Given the description of an element on the screen output the (x, y) to click on. 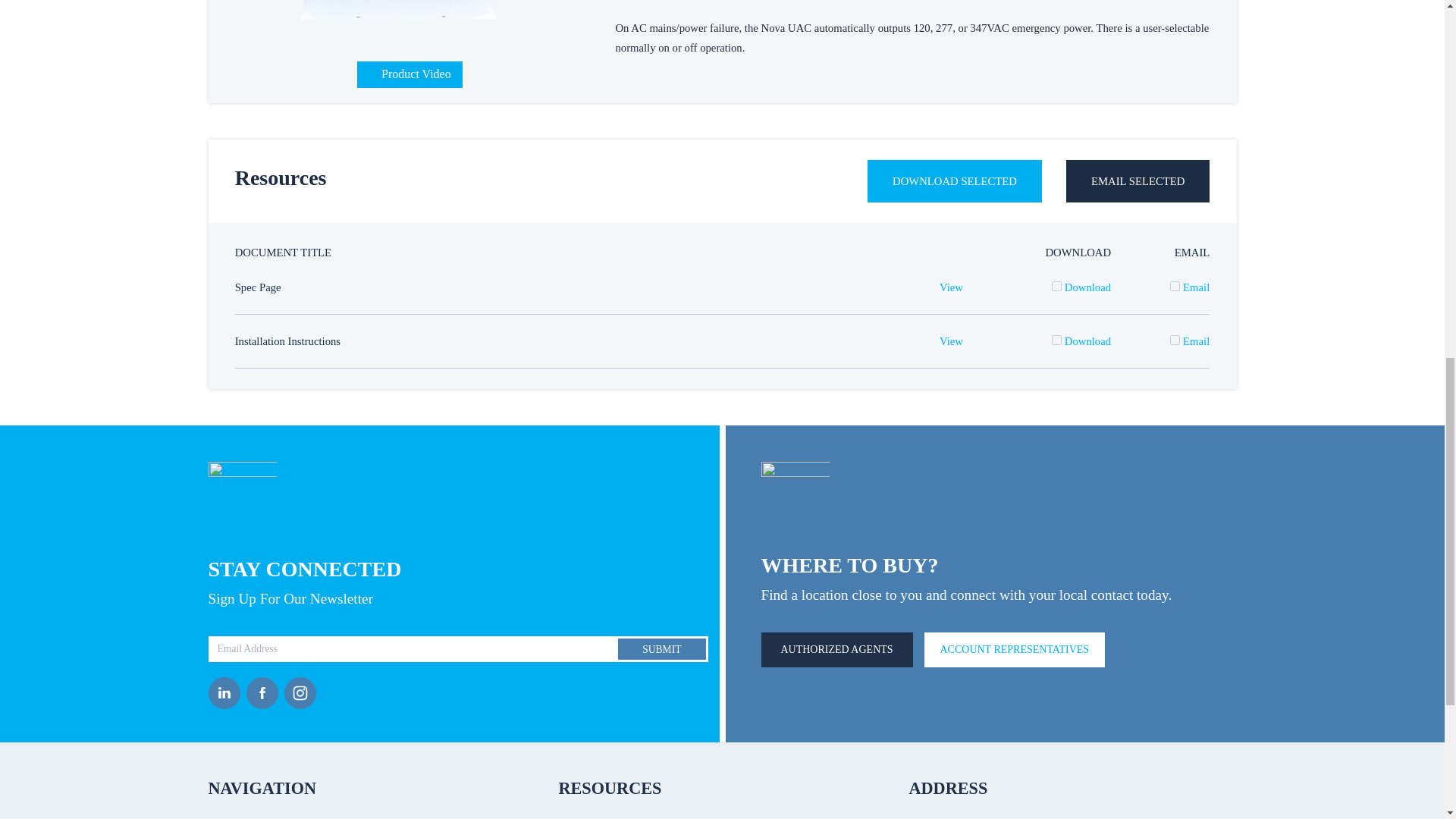
Instagram (302, 693)
on (1174, 339)
Facebook (264, 693)
letter-icon (242, 495)
on (1056, 286)
Submit (660, 649)
LinkedIn (227, 693)
on (1174, 286)
on (1056, 339)
cart-icon (795, 493)
